Given the description of an element on the screen output the (x, y) to click on. 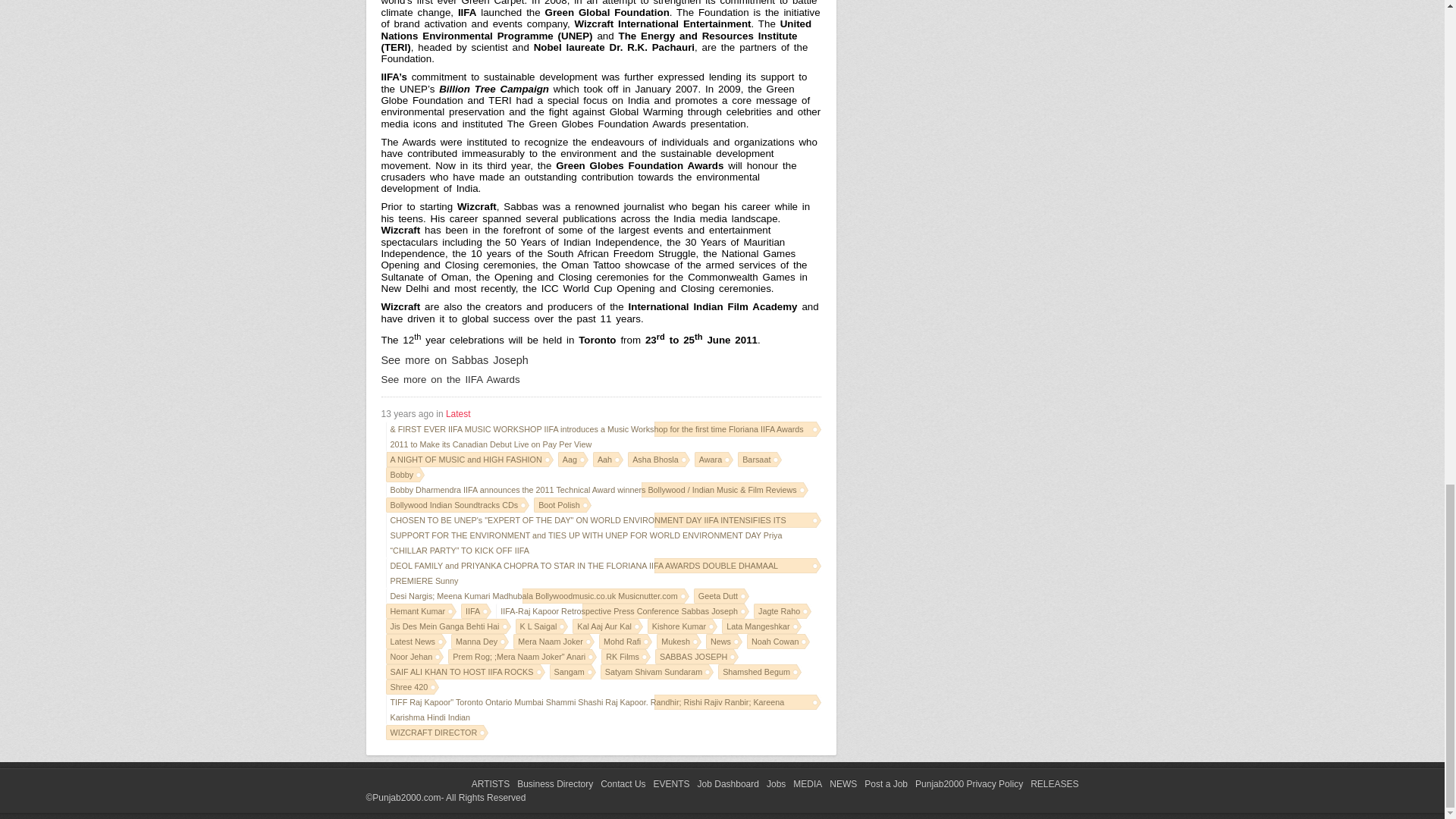
Aah (607, 459)
See more on Sabbas Joseph (453, 359)
Asha Bhosla (658, 459)
Aag (572, 459)
Barsaat (759, 459)
Awara (713, 459)
Latest (457, 413)
See more on the IIFA Awards (449, 378)
A NIGHT OF MUSIC and HIGH FASHION (469, 459)
Sabbas Joseph (453, 359)
